Given the description of an element on the screen output the (x, y) to click on. 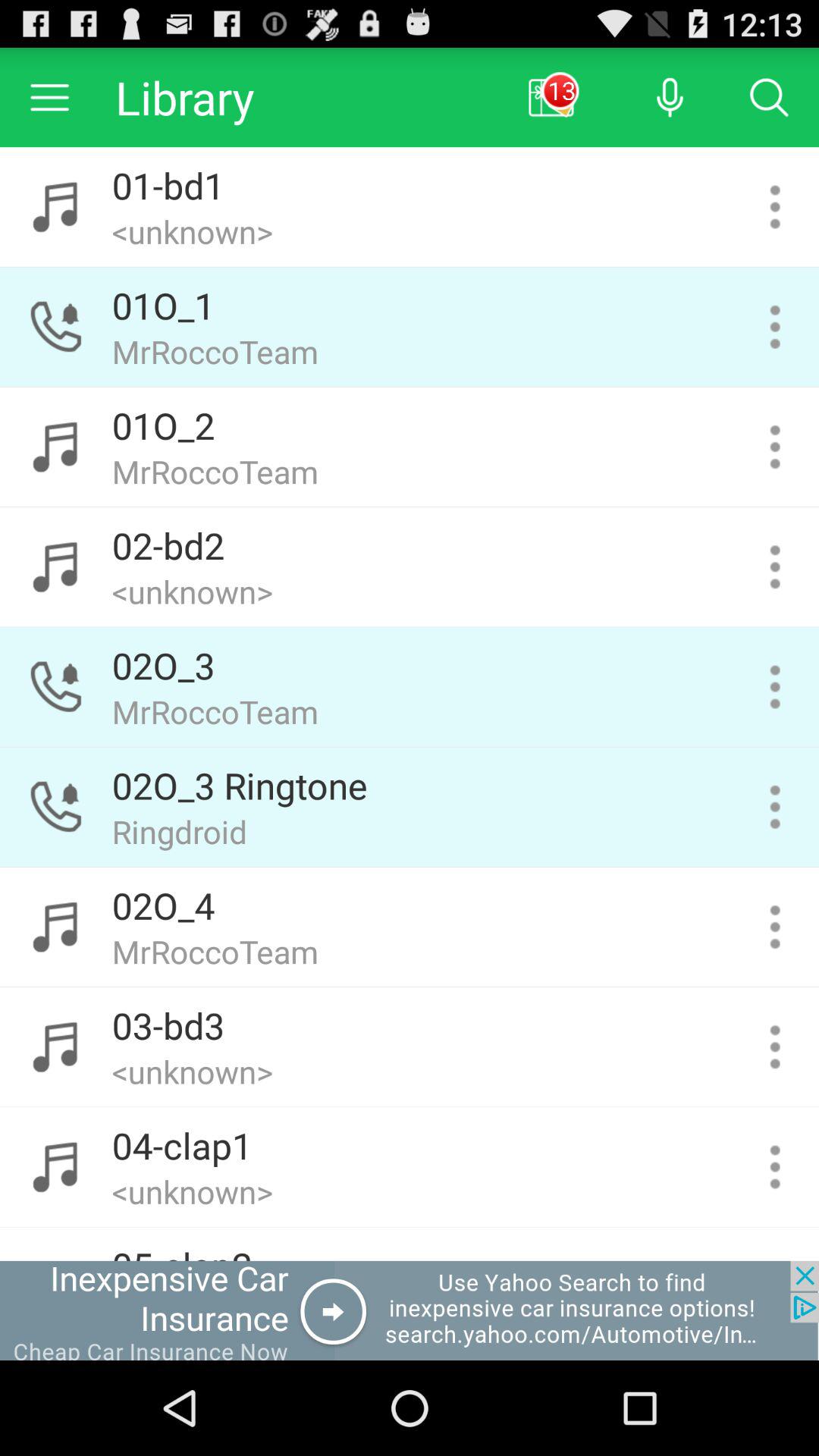
more (775, 1166)
